Given the description of an element on the screen output the (x, y) to click on. 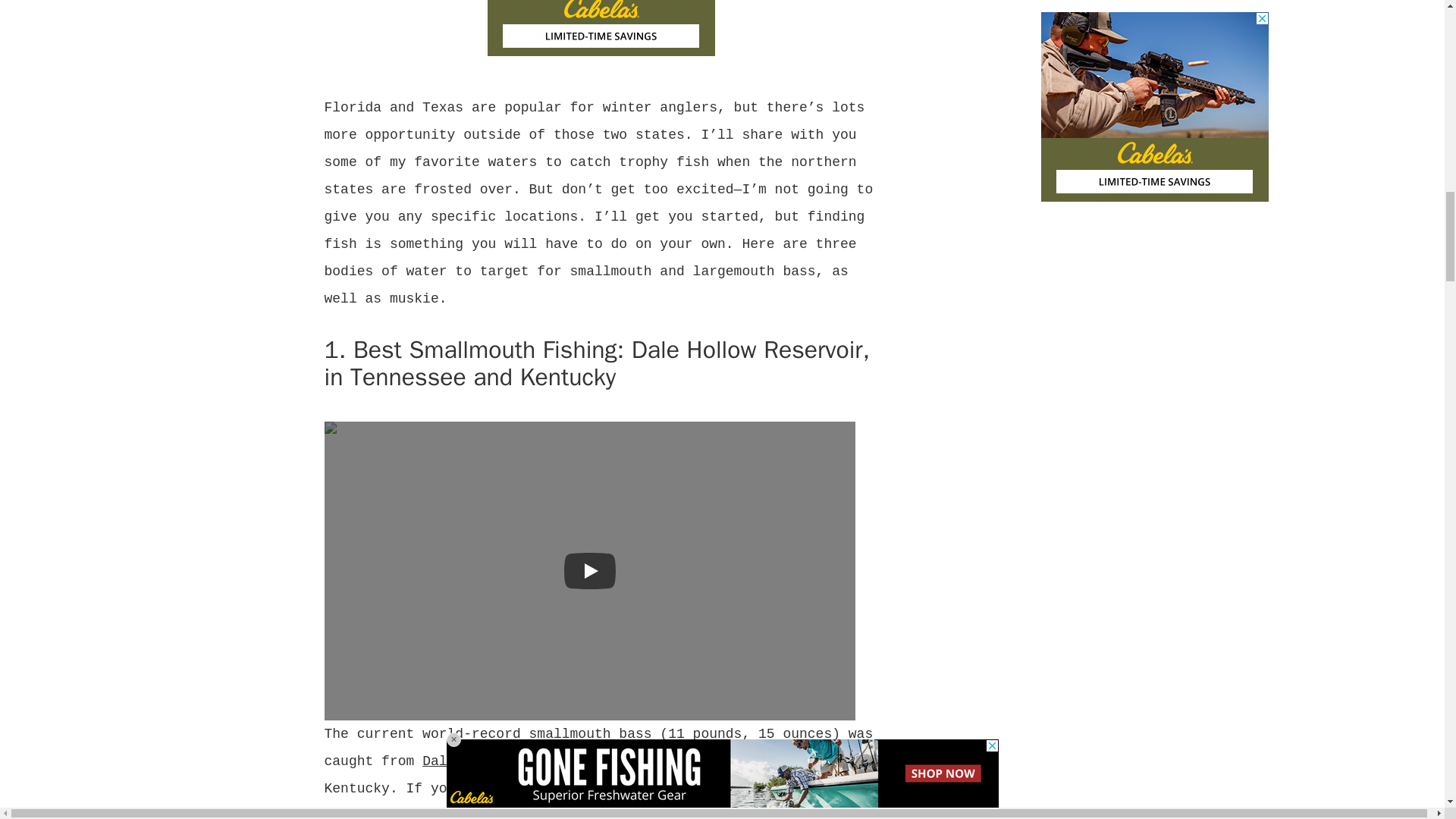
3rd party ad content (600, 28)
